Given the description of an element on the screen output the (x, y) to click on. 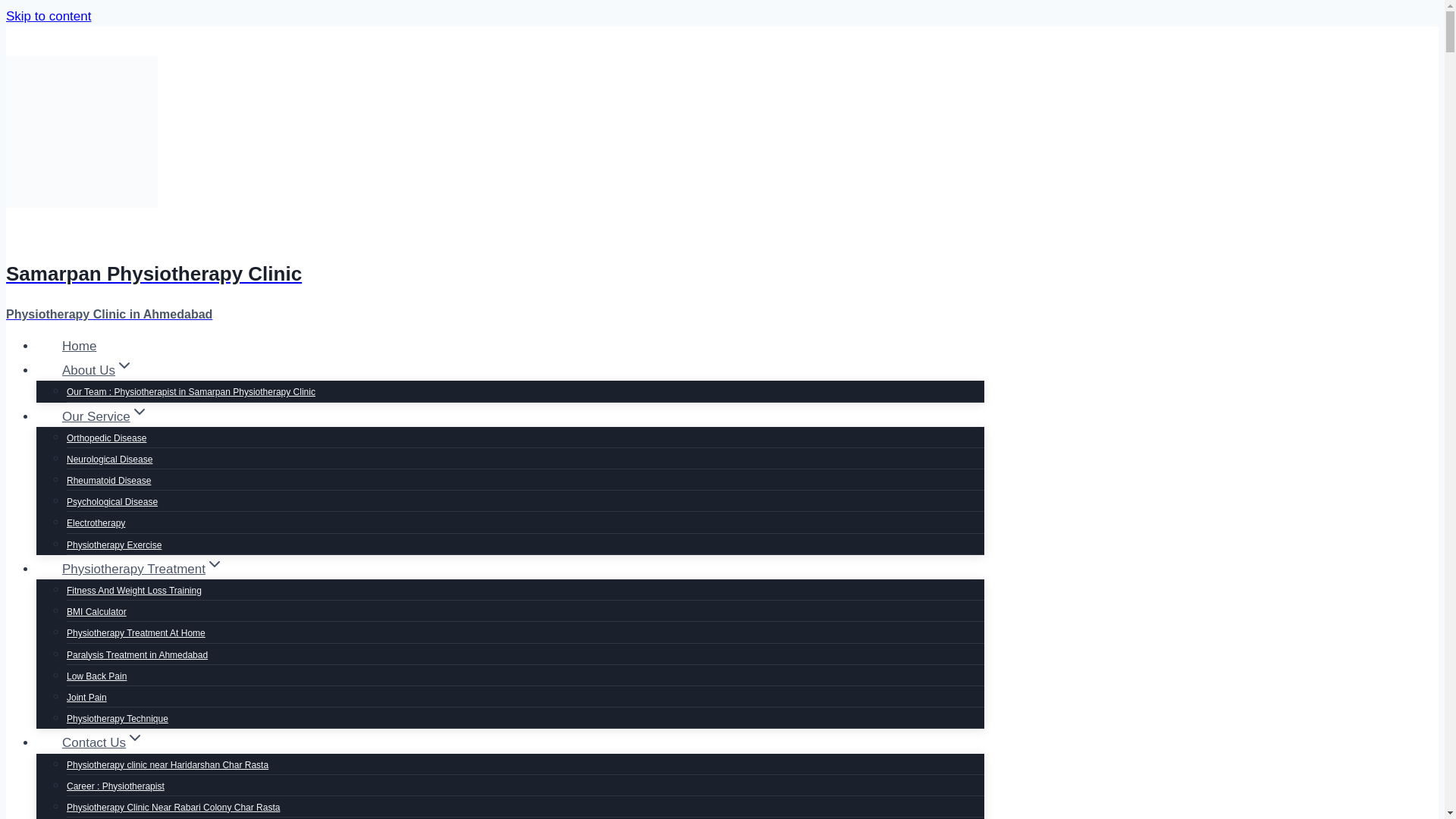
Expand (214, 564)
Orthopedic Disease (106, 438)
Low Back Pain (96, 676)
Neurological Disease (109, 459)
Psychological Disease (111, 501)
Physiotherapy Technique (117, 718)
Home (79, 345)
Rheumatoid Disease (108, 480)
Expand (134, 737)
Joint Pain (86, 697)
Expand (139, 411)
Electrotherapy (95, 522)
Fitness And Weight Loss Training (134, 590)
Physiotherapy TreatmentExpand (142, 568)
Samarpan Physiotherapy Clinic Uttamanagar Nikol Road (180, 816)
